Given the description of an element on the screen output the (x, y) to click on. 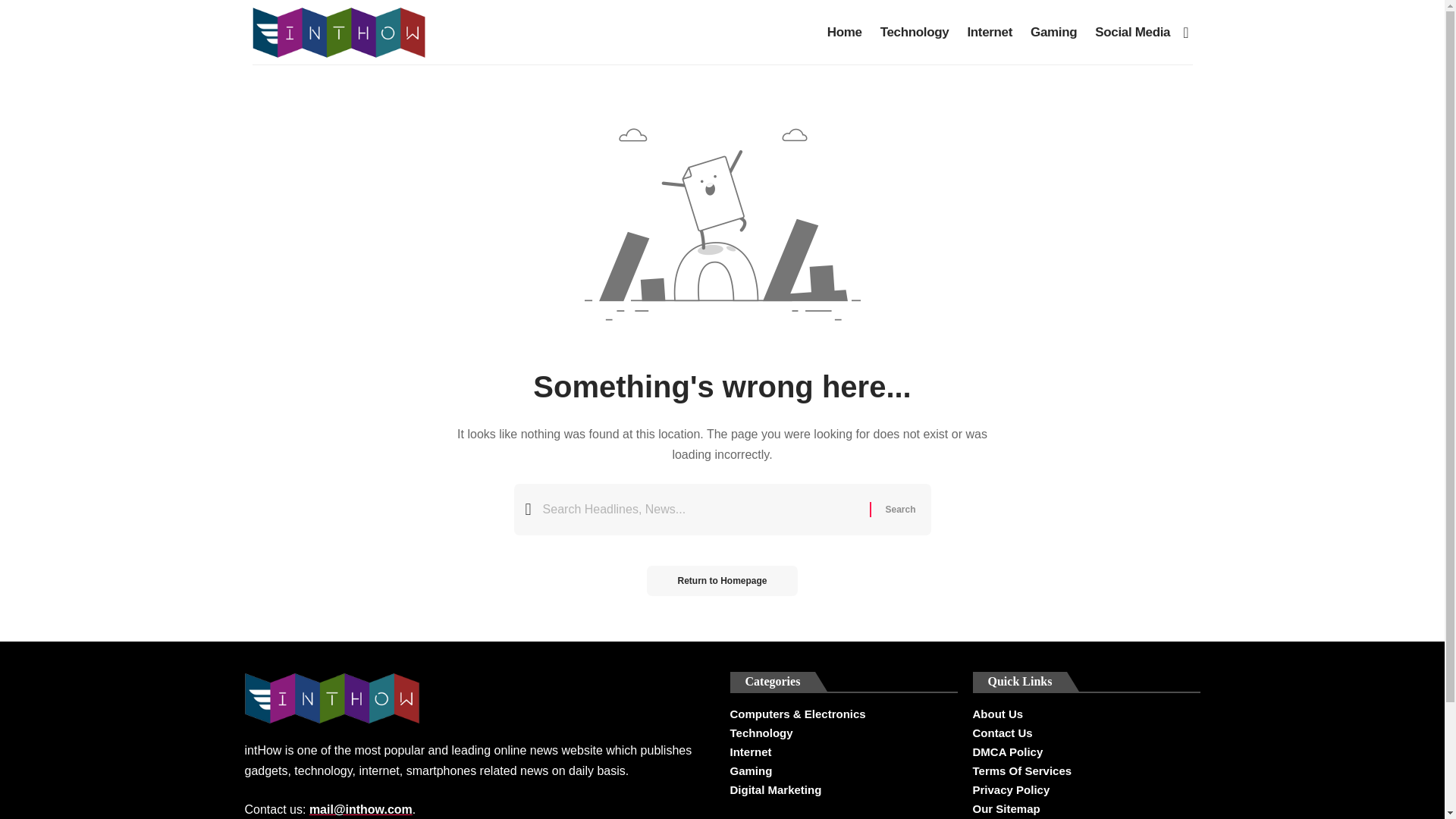
Technology (842, 732)
Home (844, 31)
Technology (914, 31)
Internet (842, 751)
About Us (1085, 715)
intHow (338, 31)
Gaming (842, 770)
Digital Marketing (842, 789)
Terms Of Services (1085, 770)
Social Media (1132, 31)
